Given the description of an element on the screen output the (x, y) to click on. 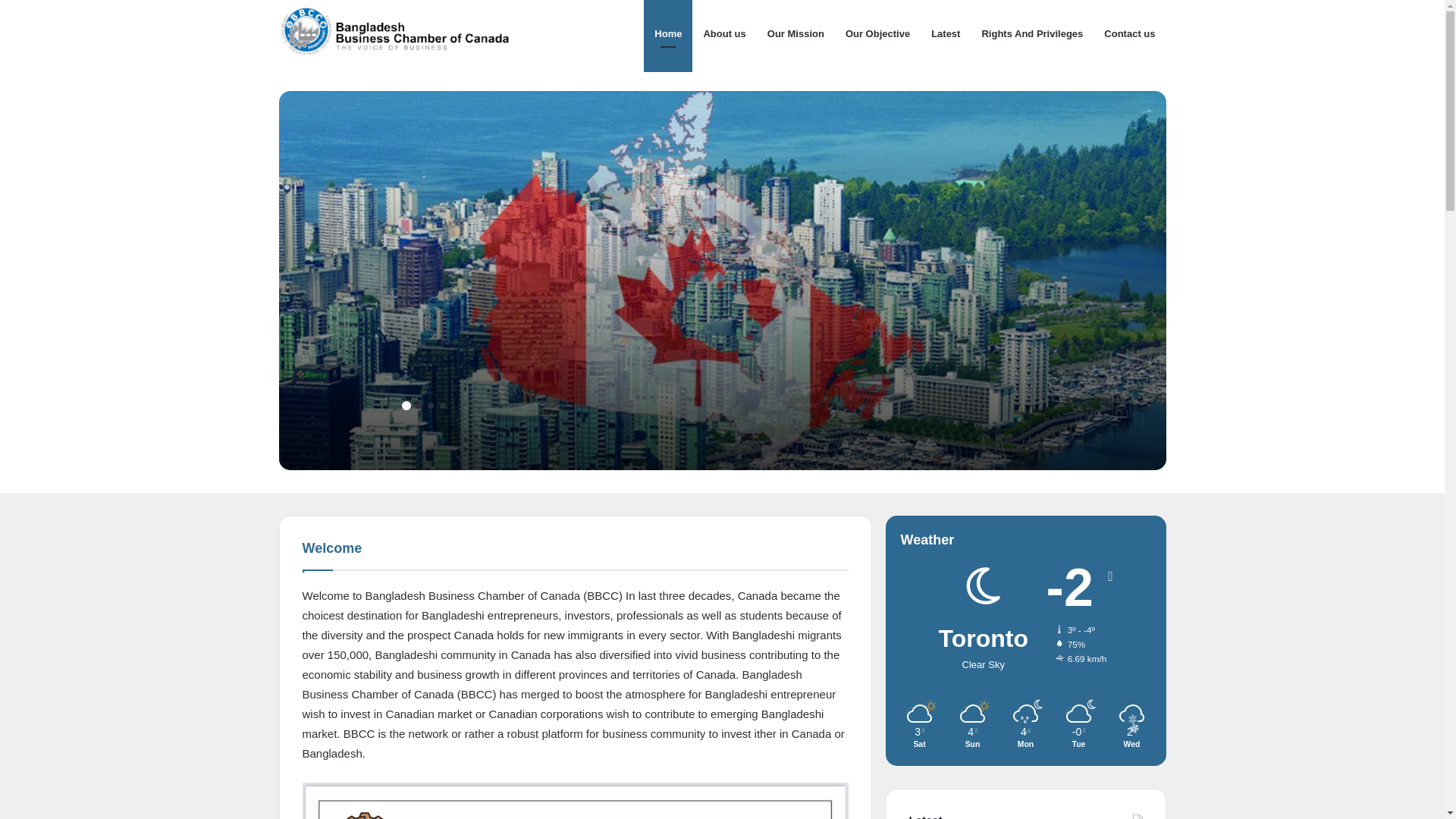
Latest Element type: text (945, 34)
Contact us Element type: text (1129, 34)
Home Element type: text (667, 34)
Our Mission Element type: text (795, 34)
Our Objective Element type: text (877, 34)
Rights And Privileges Element type: text (1031, 34)
4 Element type: text (442, 405)
1 Element type: text (404, 404)
Bangladesh Business Chamber of Canada (BBCC) Element type: hover (402, 33)
2 Element type: text (418, 405)
About us Element type: text (724, 34)
3 Element type: text (430, 405)
